Given the description of an element on the screen output the (x, y) to click on. 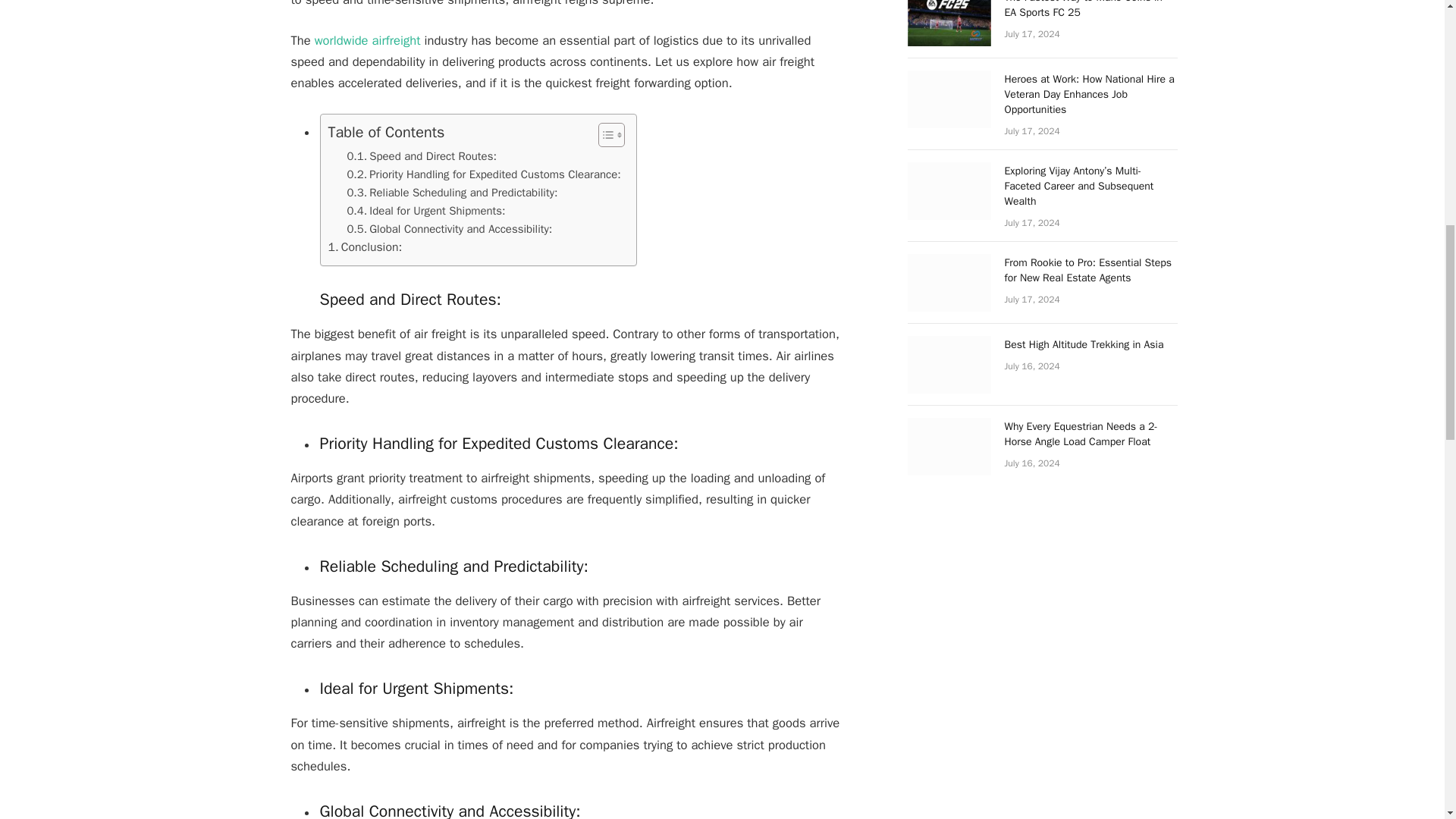
Reliable Scheduling and Predictability: (451, 193)
Ideal for Urgent Shipments: (425, 211)
Speed and Direct Routes: (421, 157)
Priority Handling for Expedited Customs Clearance: (483, 175)
worldwide airfreight (367, 40)
